Given the description of an element on the screen output the (x, y) to click on. 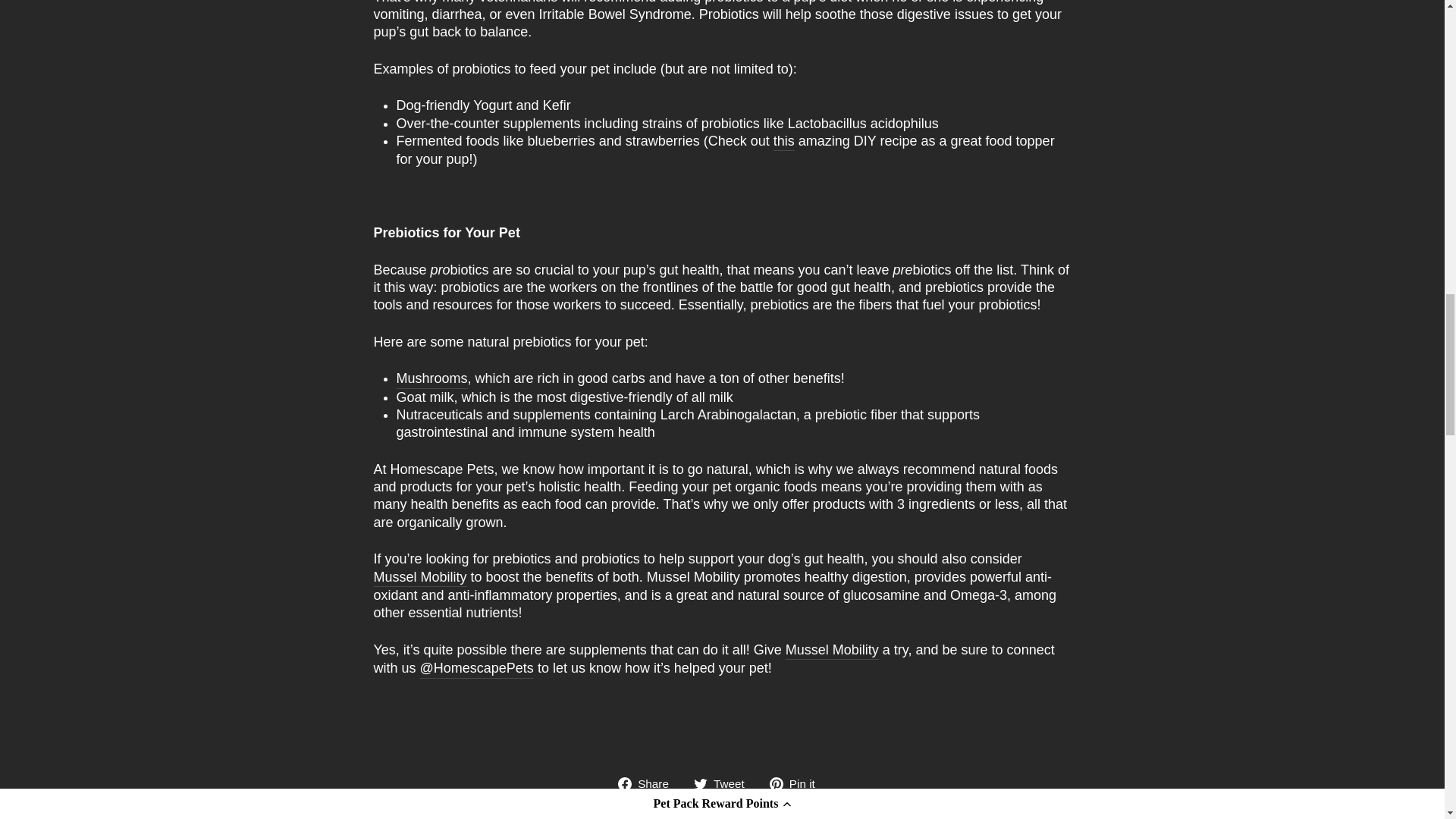
Share on Facebook (648, 782)
Tweet on Twitter (724, 782)
Pin on Pinterest (798, 782)
